Given the description of an element on the screen output the (x, y) to click on. 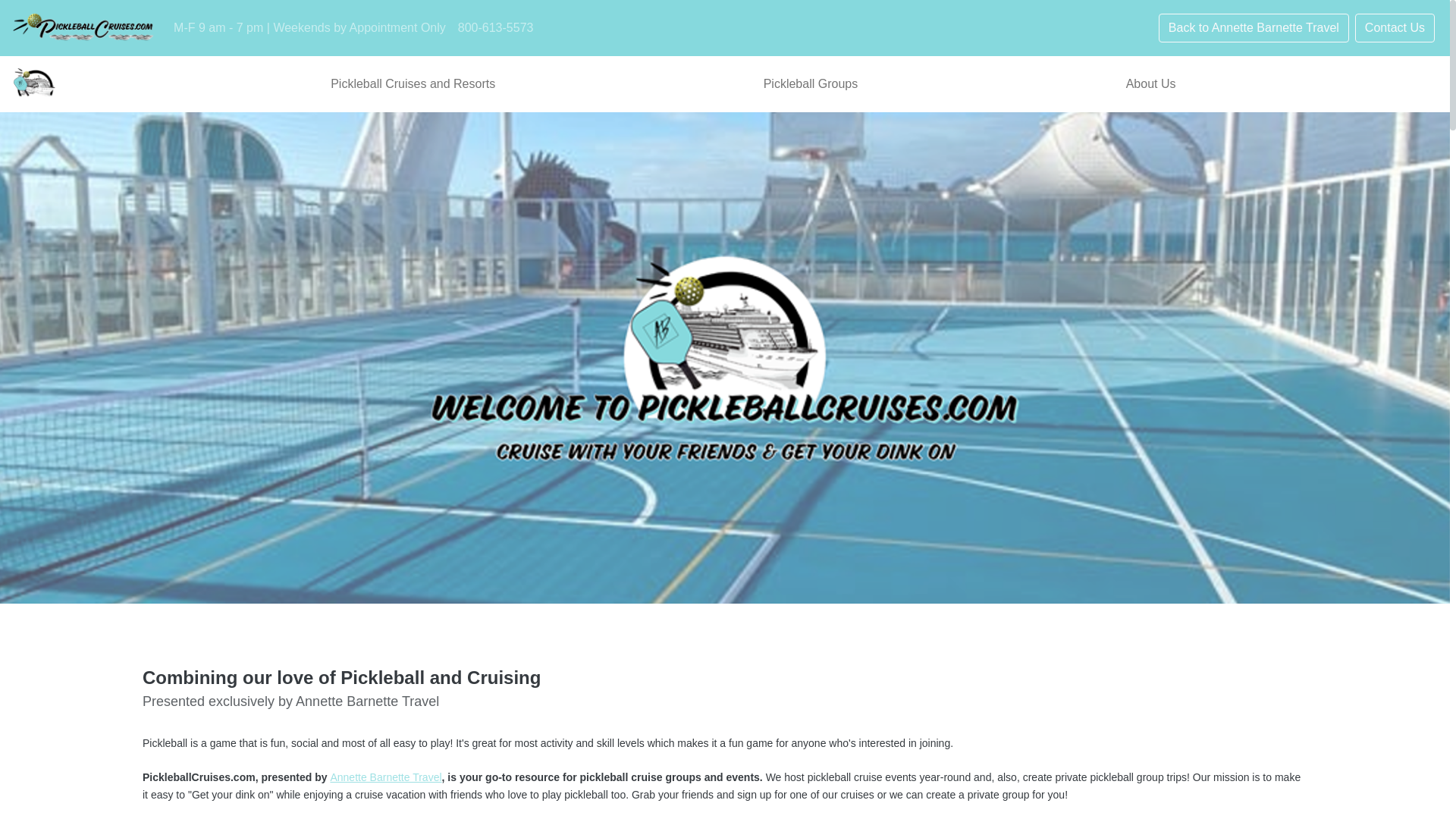
Back to Annette Barnette Travel (1253, 27)
About Us (1150, 83)
Contact Us (1394, 27)
Pickleball Groups (810, 83)
Annette Barnette Travel (385, 776)
Pickleball Cruises and Resorts (412, 83)
800-613-5573 (495, 28)
